Given the description of an element on the screen output the (x, y) to click on. 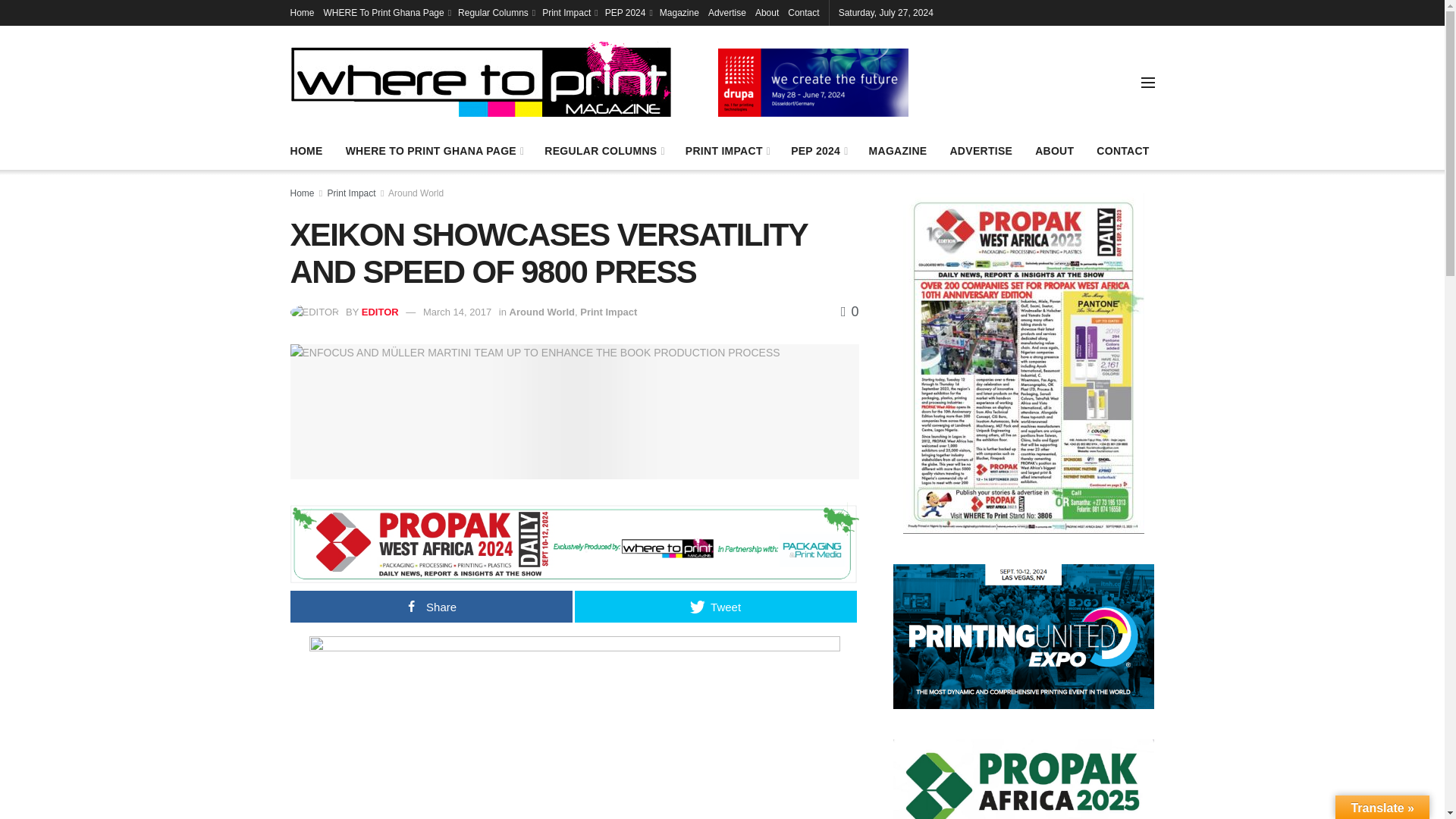
REGULAR COLUMNS (603, 150)
HOME (305, 150)
Home (301, 12)
Advertise (726, 12)
Print Impact (568, 12)
Contact (802, 12)
Regular Columns (495, 12)
About (766, 12)
WHERE To Print Ghana Page (386, 12)
WHERE TO PRINT GHANA PAGE (434, 150)
Magazine (678, 12)
PEP 2024 (627, 12)
